Given the description of an element on the screen output the (x, y) to click on. 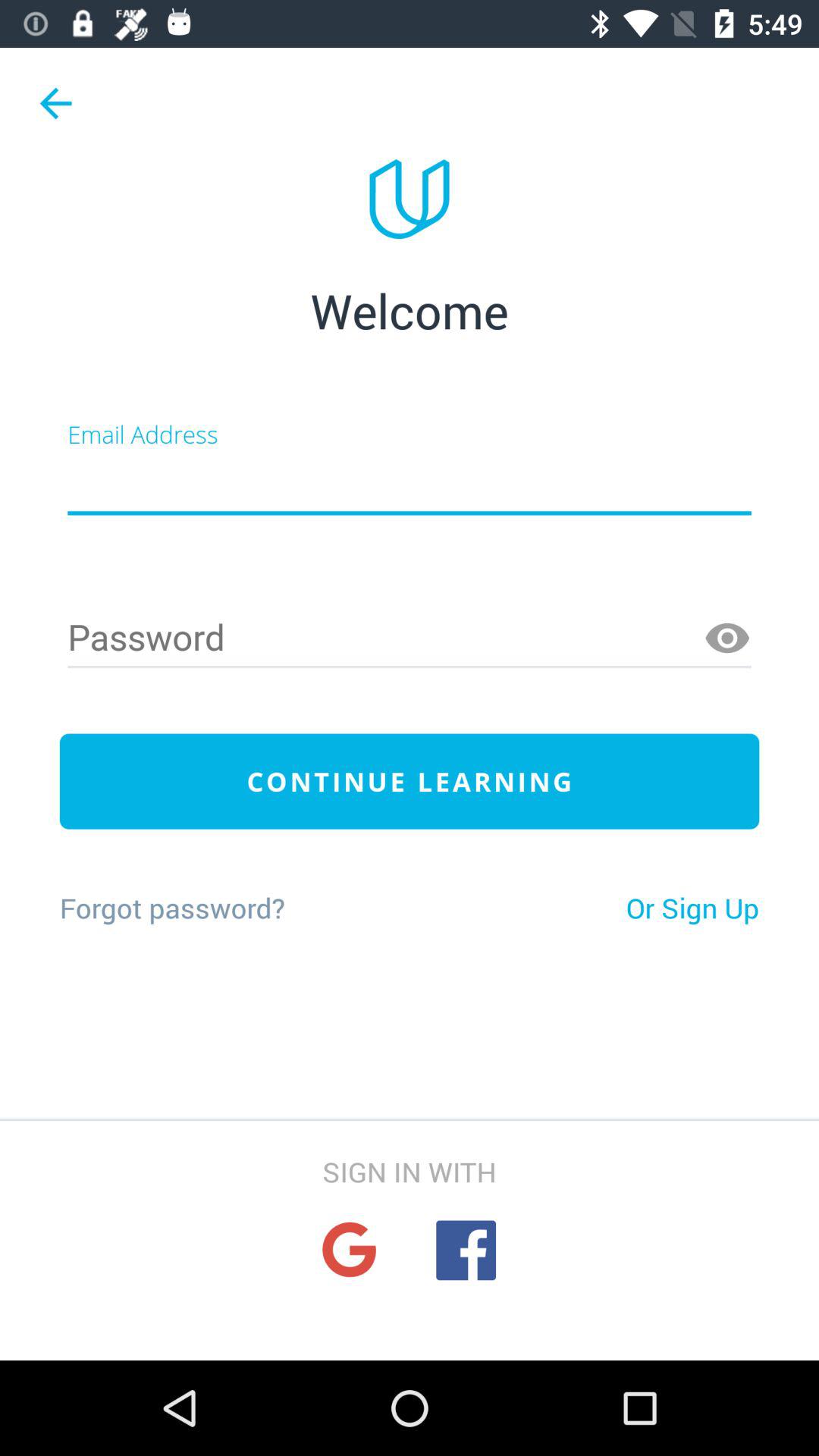
password (409, 638)
